Given the description of an element on the screen output the (x, y) to click on. 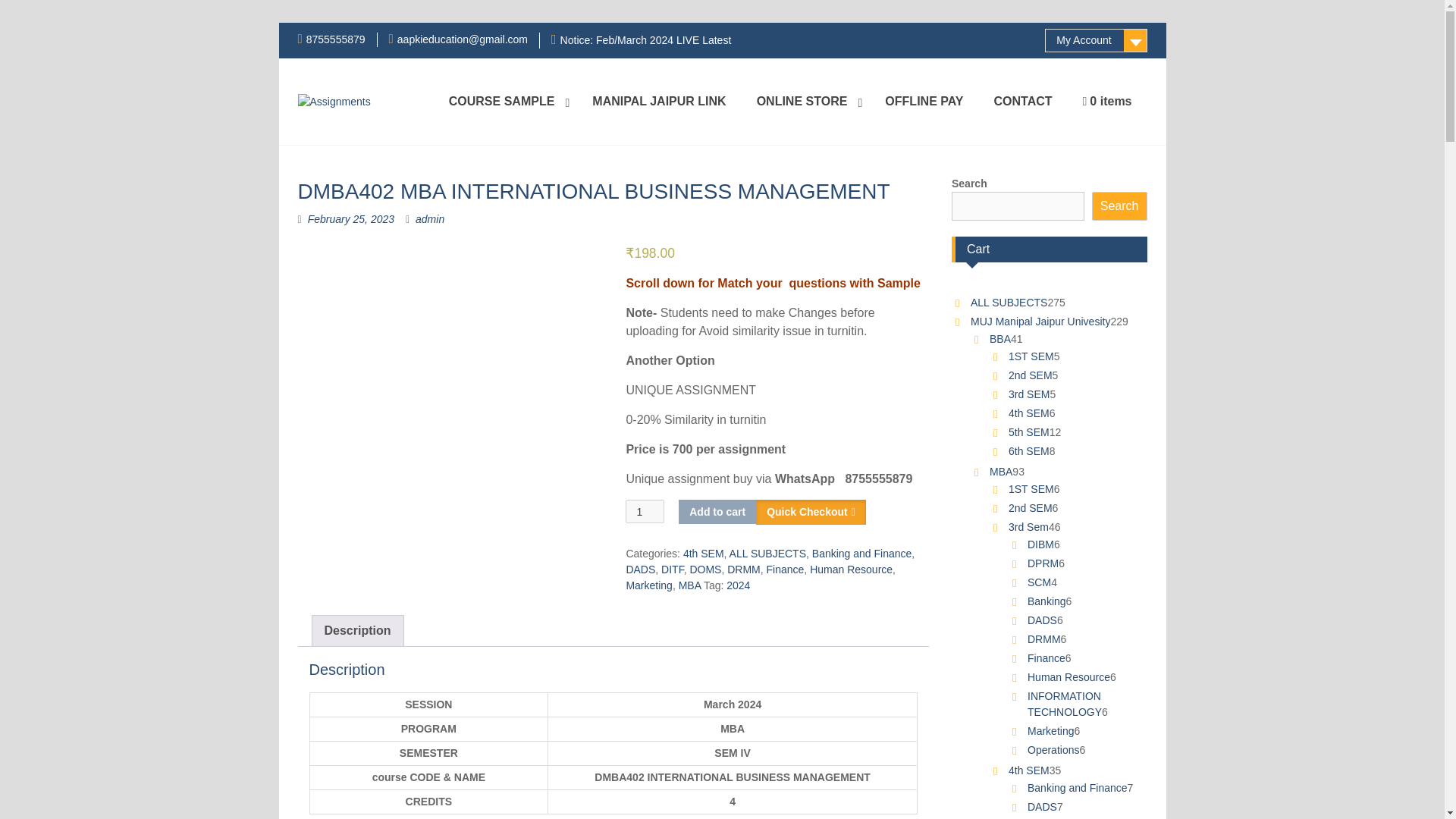
8755555879 (335, 39)
MANIPAL JAIPUR LINK (658, 101)
ONLINE STORE (805, 101)
1 (644, 511)
Start shopping (1107, 101)
COURSE SAMPLE (505, 101)
My Account (1096, 40)
